Given the description of an element on the screen output the (x, y) to click on. 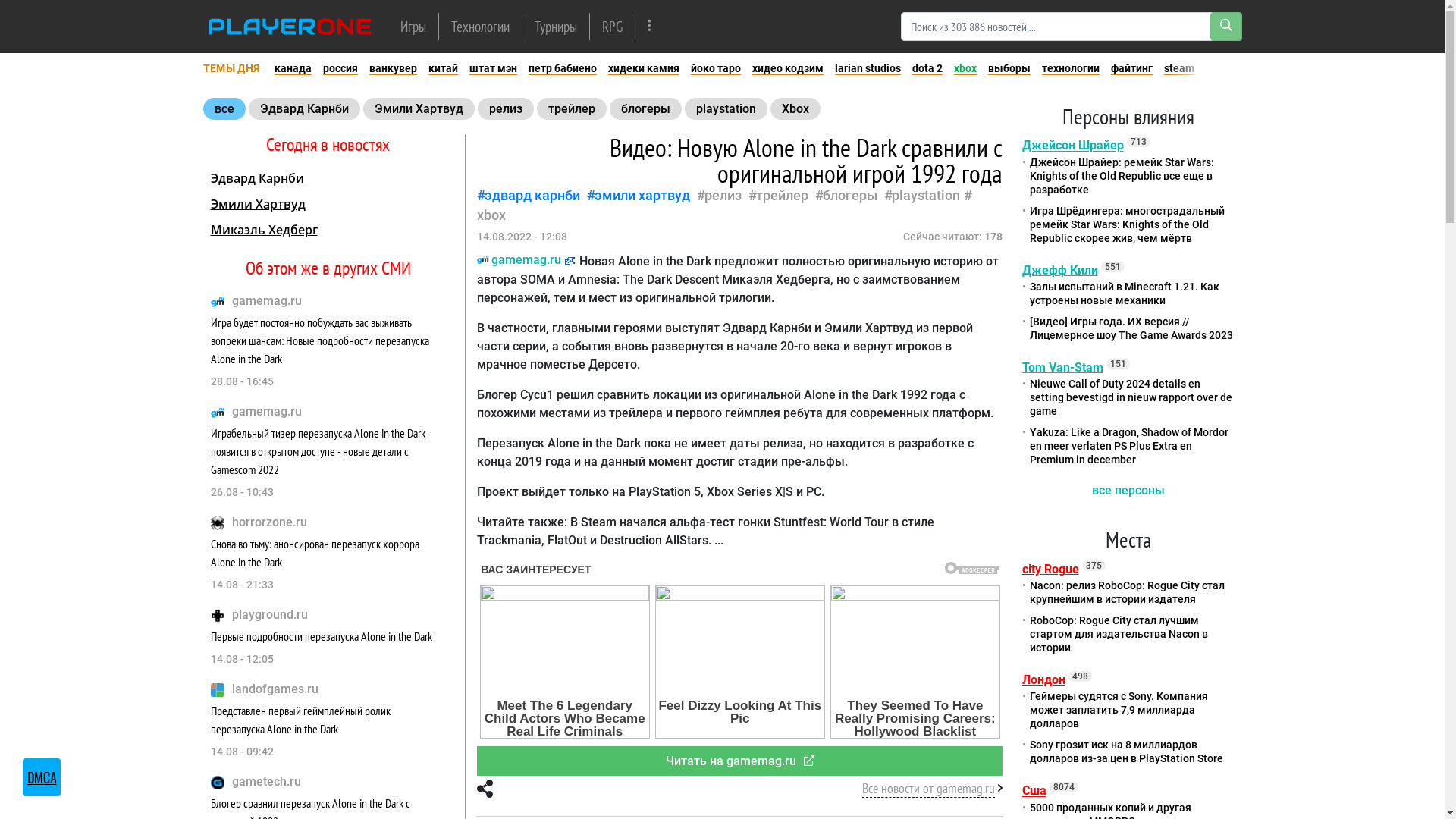
landofgames.ru Element type: text (275, 688)
larian studios Element type: text (867, 68)
DMCA Element type: text (41, 777)
city Rogue Element type: text (1050, 568)
xbox Element type: text (723, 224)
steam Element type: text (1179, 68)
Tom Van-Stam Element type: text (1062, 367)
RPG Element type: text (611, 25)
playstation Element type: text (725, 108)
dota 2 Element type: text (927, 68)
playground.ru Element type: text (269, 614)
playstation Element type: text (925, 195)
gamemag.ru Element type: text (524, 259)
Xbox Element type: text (795, 108)
gametech.ru Element type: text (266, 781)
gamemag.ru Element type: text (266, 300)
xbox Element type: text (964, 68)
horrorzone.ru Element type: text (269, 521)
gamemag.ru Element type: text (266, 411)
